Given the description of an element on the screen output the (x, y) to click on. 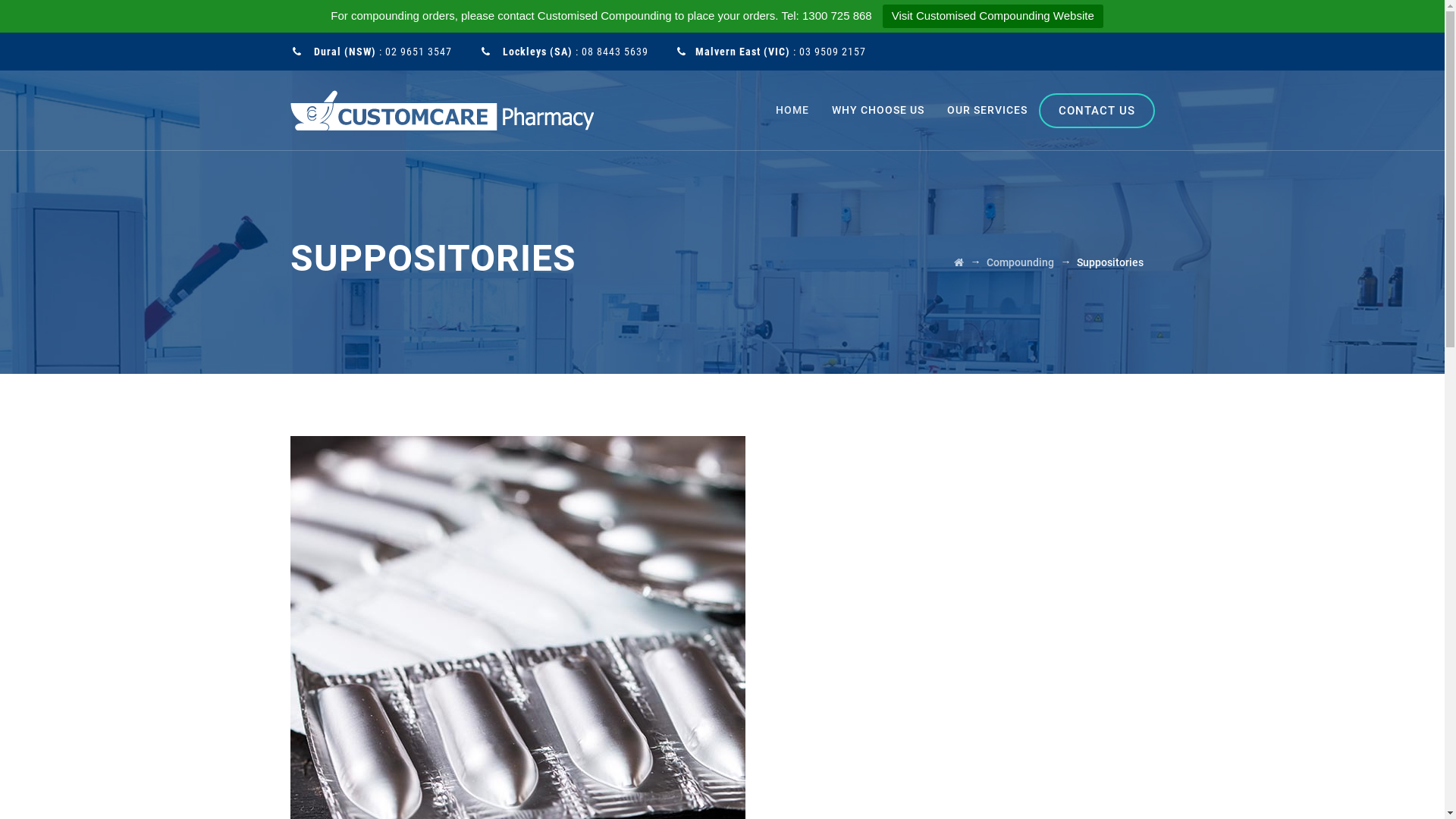
Dural (NSW) : 02 9651 3547 Element type: text (380, 51)
Customcare Pharmacy Element type: hover (441, 110)
CONTACT US Element type: text (1096, 110)
Compounding Element type: text (1019, 262)
Malvern East (VIC) : 03 9509 2157 Element type: text (780, 51)
WHY CHOOSE US Element type: text (877, 110)
Visit Customised Compounding Website Element type: text (992, 16)
Lockleys (SA) : 08 8443 5639 Element type: text (573, 51)
Go to Customcare Pharmacy. Element type: hover (958, 262)
OUR SERVICES Element type: text (986, 110)
HOME Element type: text (791, 110)
